Given the description of an element on the screen output the (x, y) to click on. 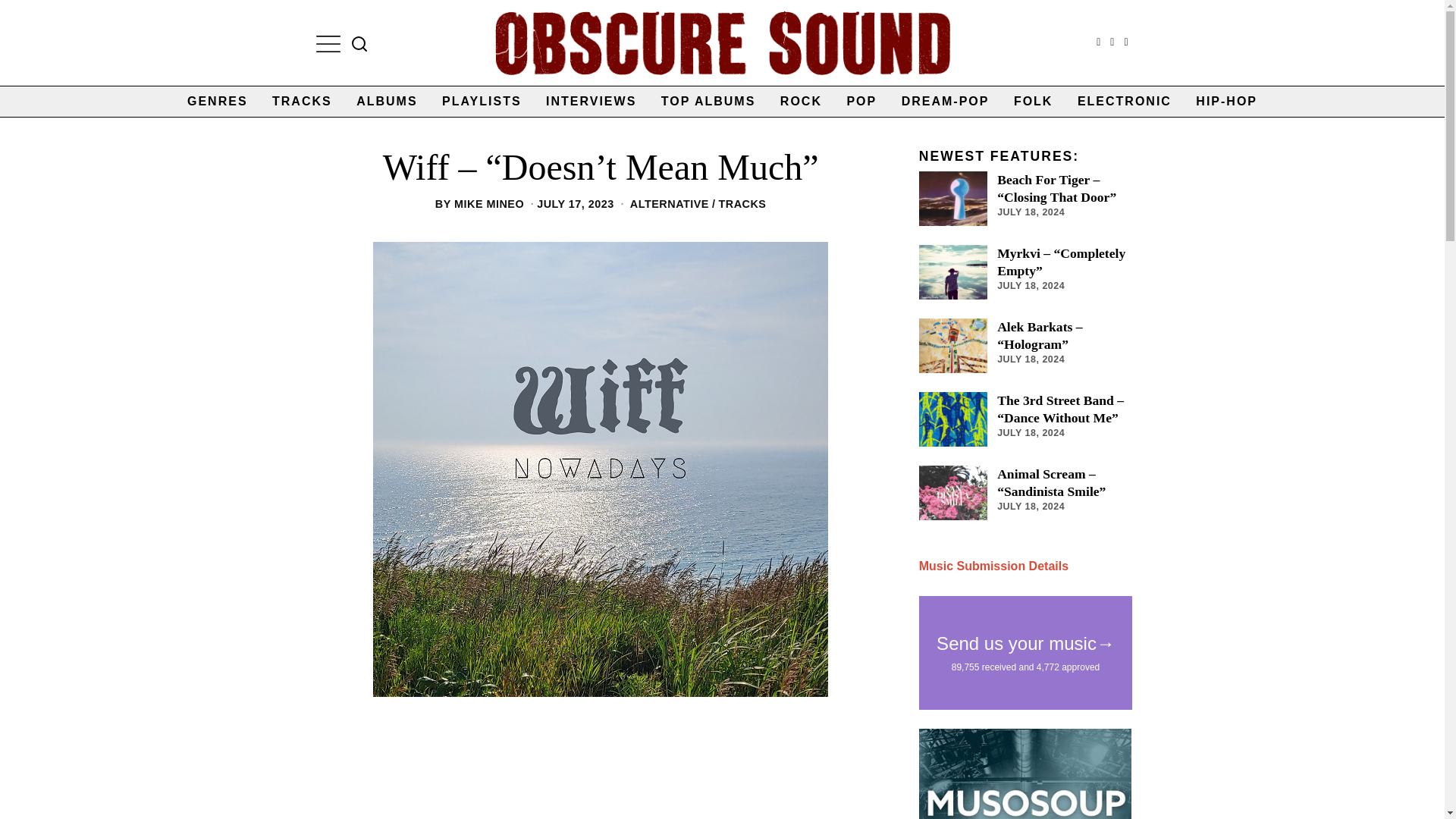
DREAM-POP (945, 101)
INTERVIEWS (590, 101)
POP (860, 101)
ROCK (801, 101)
ALBUMS (387, 101)
PLAYLISTS (481, 101)
TOP ALBUMS (708, 101)
HIP-HOP (1226, 101)
Send music (993, 565)
MIKE MINEO (489, 203)
TRACKS (302, 101)
TRACKS (741, 203)
ALTERNATIVE (669, 203)
ELECTRONIC (1124, 101)
GENRES (217, 101)
